Given the description of an element on the screen output the (x, y) to click on. 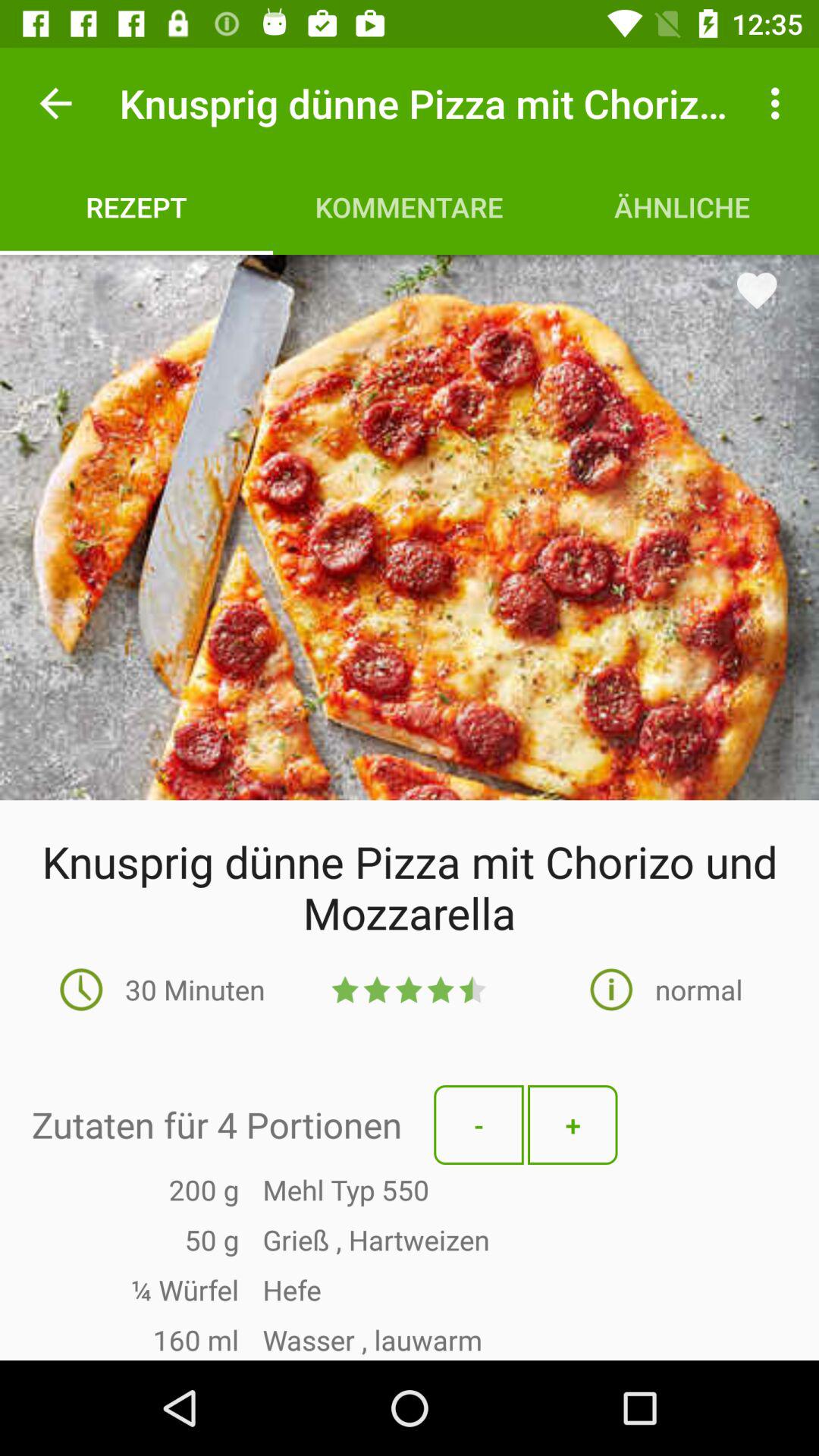
turn on the icon above mehl typ 550 item (572, 1124)
